Given the description of an element on the screen output the (x, y) to click on. 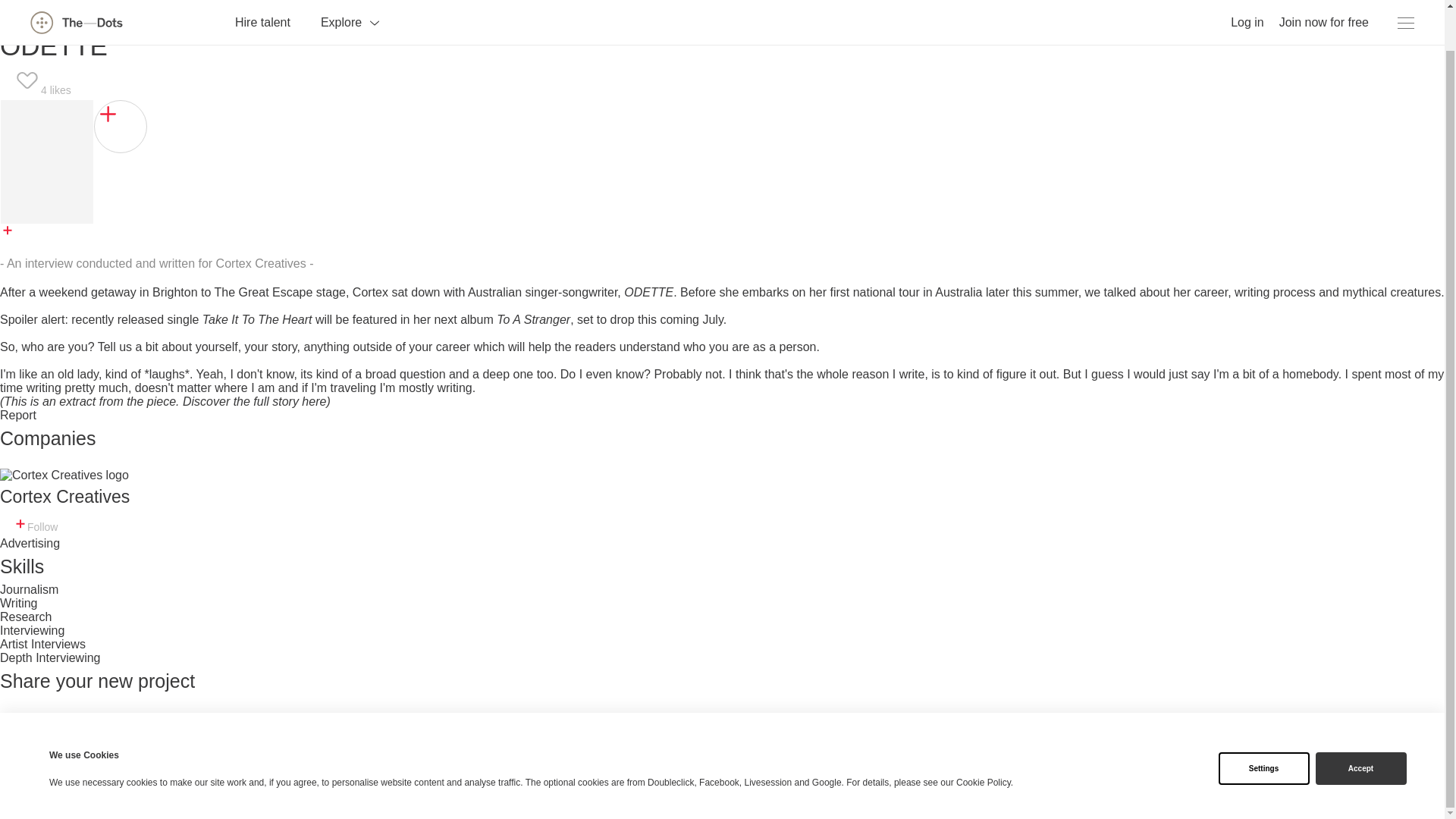
Depth Interviewing (50, 657)
Settings (1262, 726)
Sitemap (18, 812)
Follow (35, 524)
Share on Twitter (149, 719)
Journalism (29, 589)
Report (18, 414)
Interviewing (32, 630)
Share on Facebook (53, 719)
Artist Interviews (42, 644)
